Given the description of an element on the screen output the (x, y) to click on. 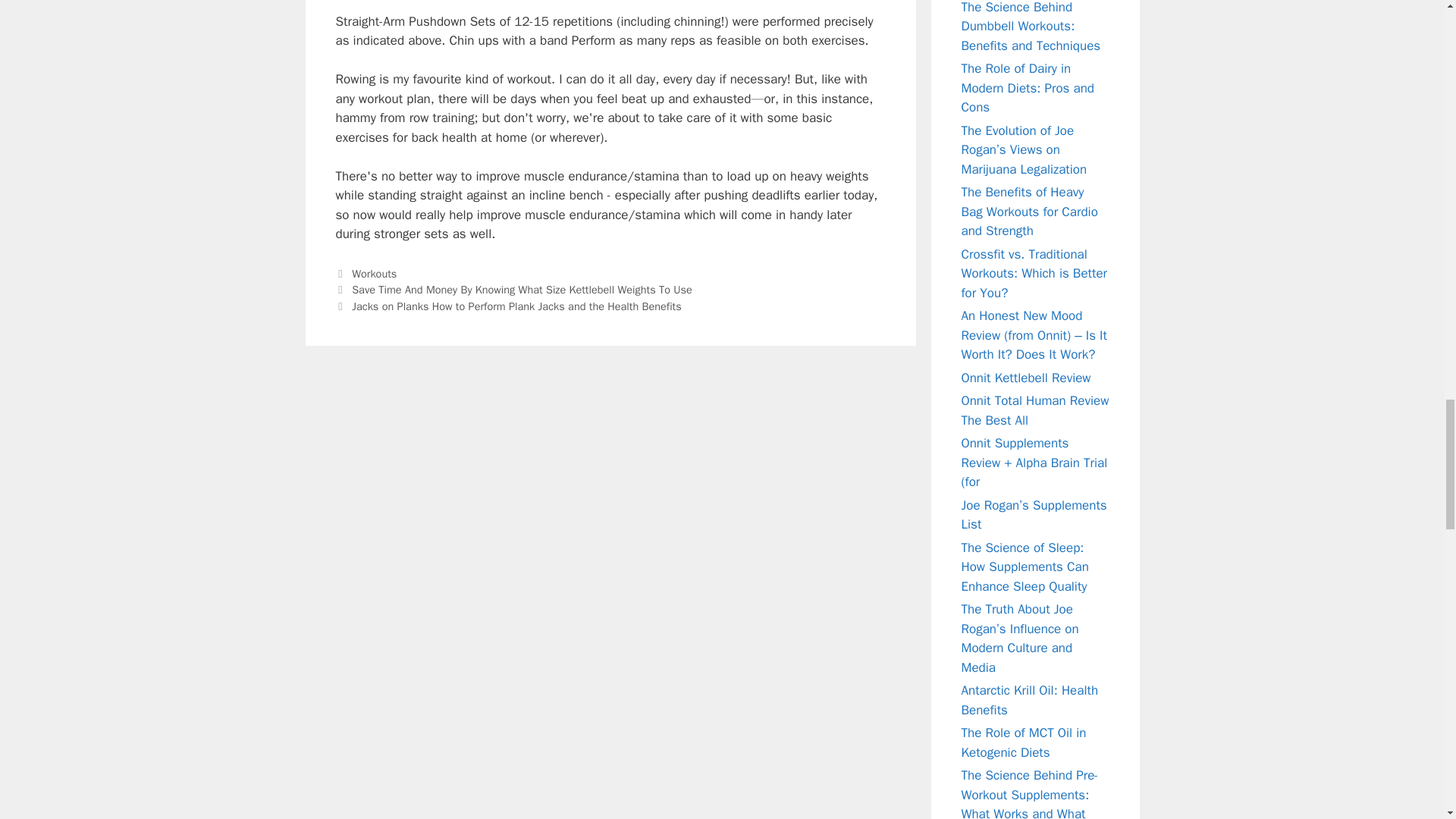
Workouts (374, 273)
Next (507, 305)
Previous (512, 289)
